Given the description of an element on the screen output the (x, y) to click on. 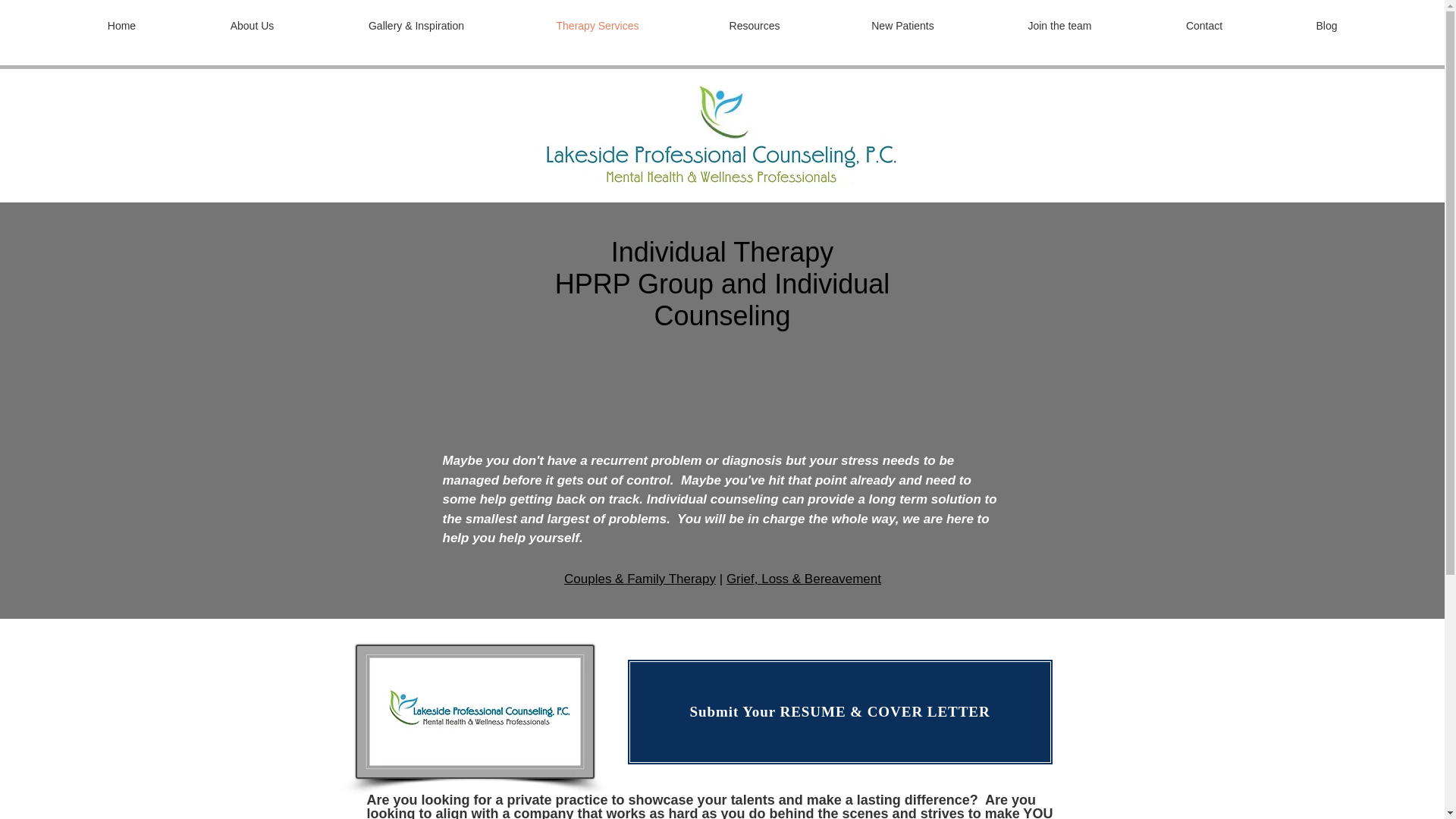
About Us (252, 25)
Resources (754, 25)
Blog (1326, 25)
New Patients (902, 25)
Home (122, 25)
Contact (1203, 25)
HPRP Group an Individual Therapy Counseling (721, 134)
Join the team (1058, 25)
Therapy Services (597, 25)
